Given the description of an element on the screen output the (x, y) to click on. 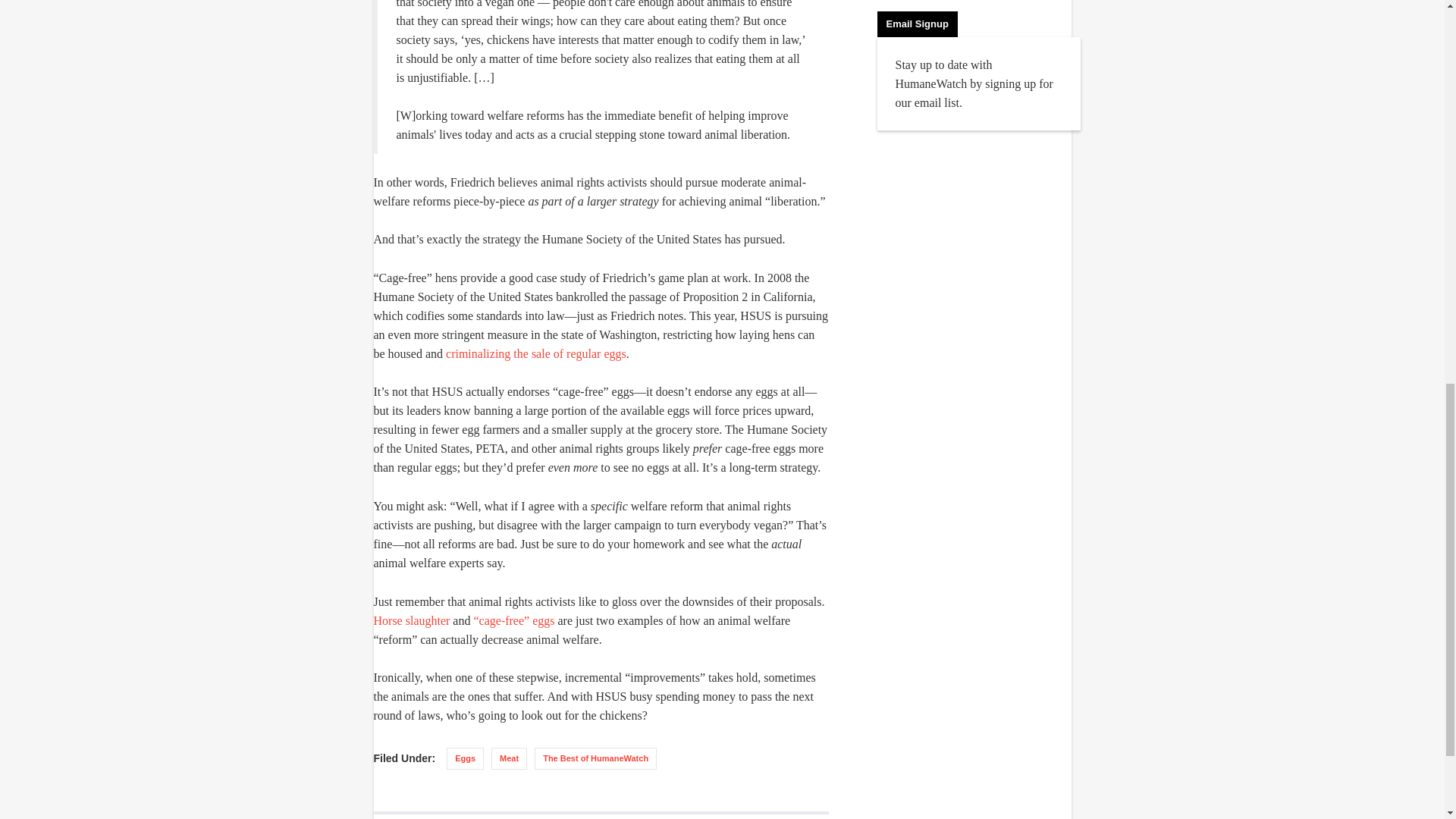
Horse slaughter (410, 620)
criminalizing the sale of regular eggs (535, 353)
